Given the description of an element on the screen output the (x, y) to click on. 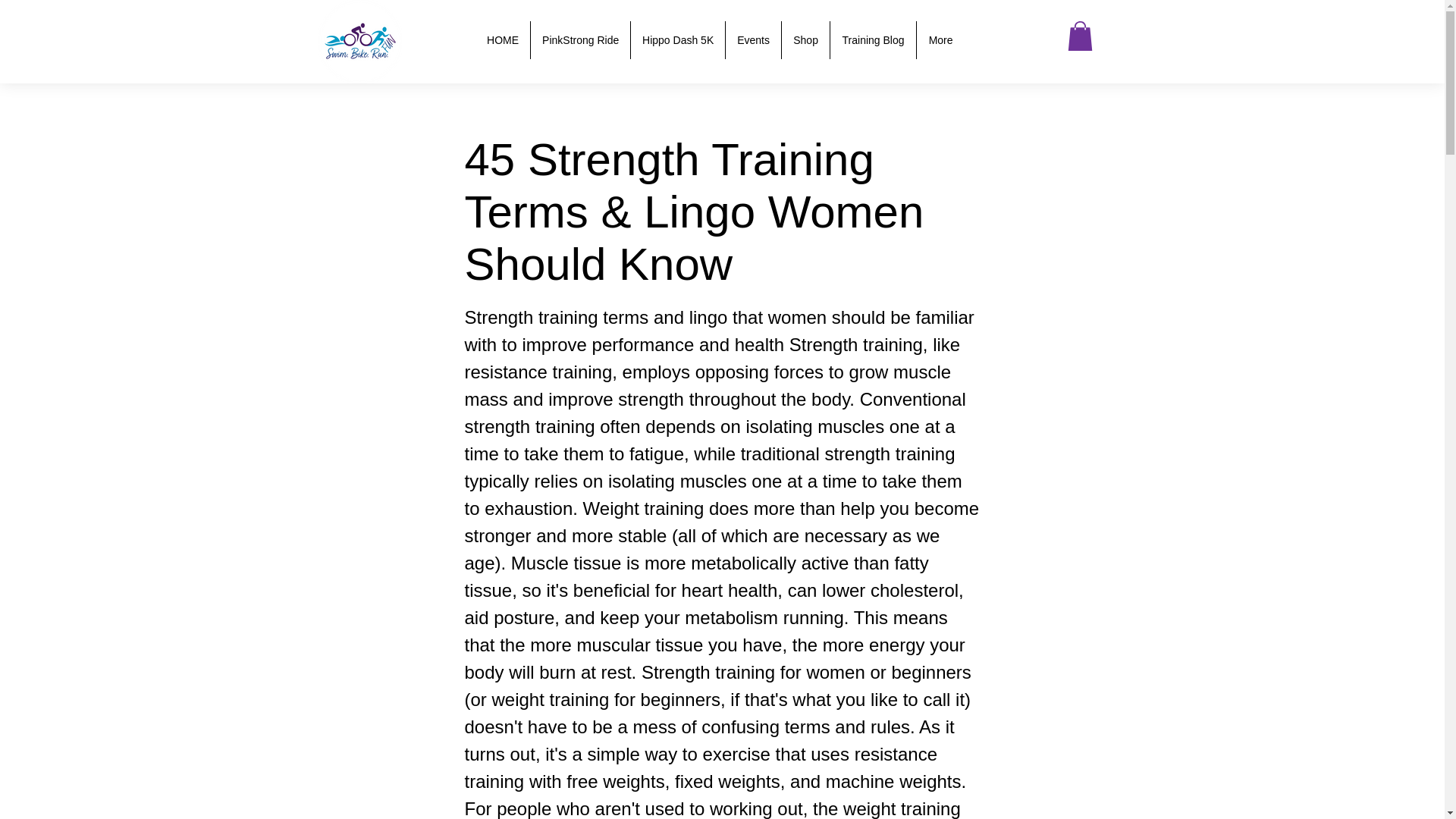
Training Blog (872, 39)
HOME (502, 39)
Hippo Dash 5K (677, 39)
Endurance Sports For Women (359, 41)
Events (752, 39)
PinkStrong Ride (579, 39)
Shop (804, 39)
